Given the description of an element on the screen output the (x, y) to click on. 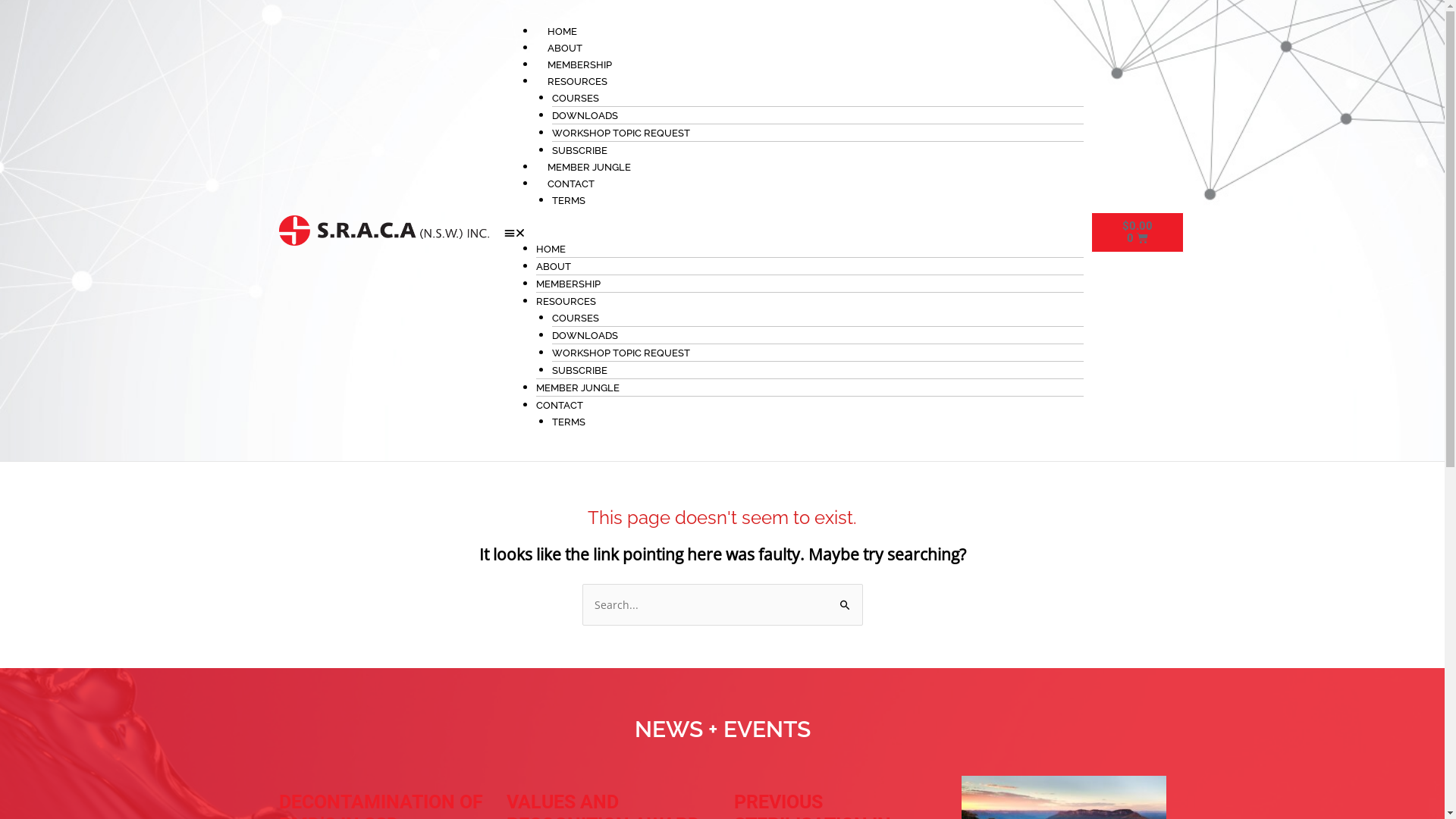
ABOUT Element type: text (564, 47)
ABOUT Element type: text (553, 266)
MEMBERSHIP Element type: text (579, 64)
WORKSHOP TOPIC REQUEST Element type: text (621, 132)
COURSES Element type: text (575, 317)
RESOURCES Element type: text (566, 301)
SUBSCRIBE Element type: text (579, 370)
MEMBERSHIP Element type: text (568, 283)
MEMBER JUNGLE Element type: text (577, 387)
Facebook Element type: text (1158, 230)
TERMS Element type: text (568, 200)
CONTACT Element type: text (570, 183)
HOME Element type: text (562, 31)
Search Element type: text (845, 598)
SUBSCRIBE Element type: text (579, 150)
DOWNLOADS Element type: text (585, 115)
MEMBER JUNGLE Element type: text (589, 166)
COURSES Element type: text (575, 97)
WORKSHOP TOPIC REQUEST Element type: text (621, 352)
DOWNLOADS Element type: text (585, 335)
RESOURCES Element type: text (577, 81)
HOME Element type: text (550, 248)
CONTACT Element type: text (559, 405)
TERMS Element type: text (568, 421)
$0.00 0
CART Element type: text (1137, 232)
